Given the description of an element on the screen output the (x, y) to click on. 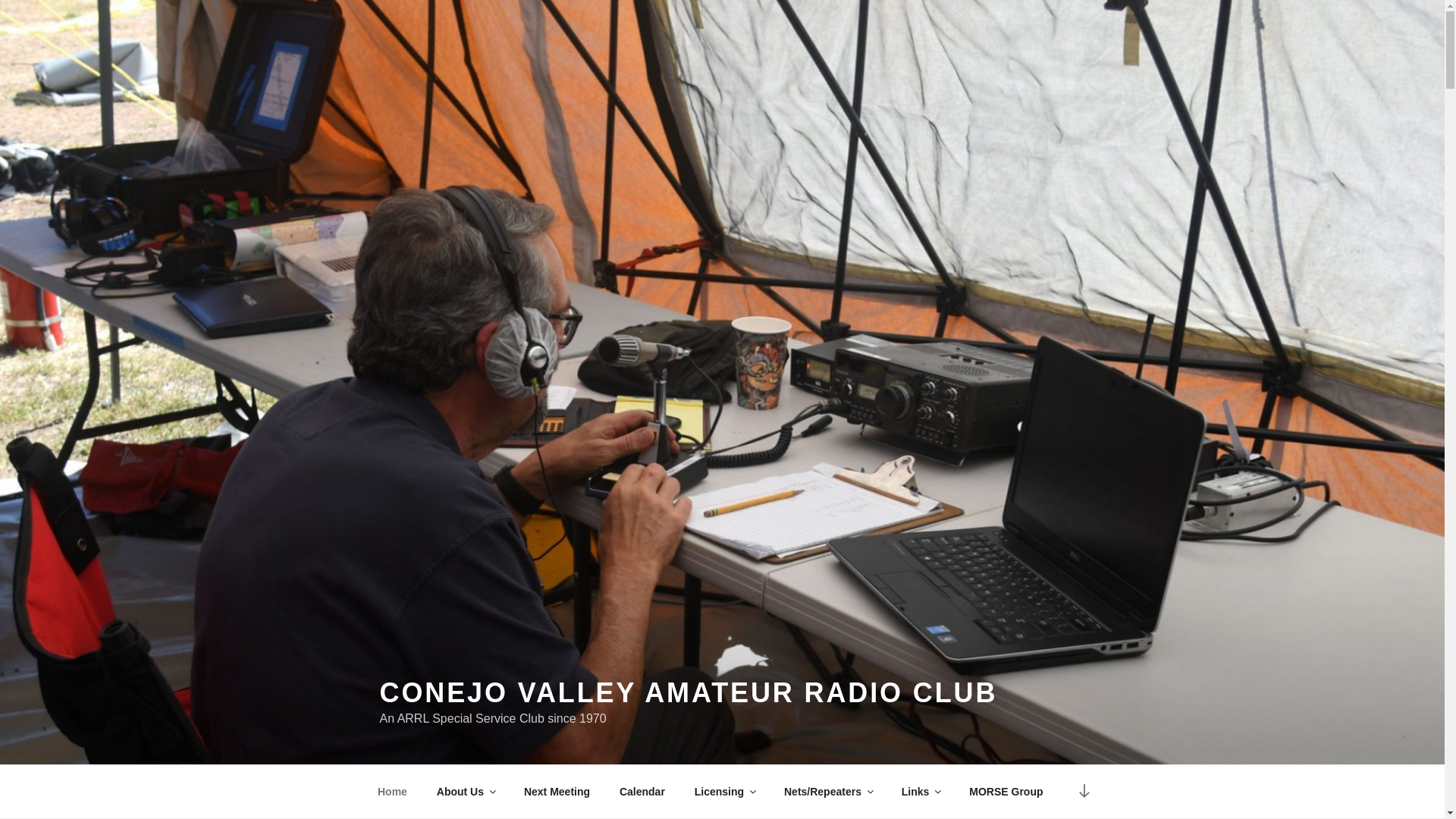
MORSE Group (1006, 791)
Calendar (641, 791)
CONEJO VALLEY AMATEUR RADIO CLUB (687, 692)
Scroll down to content (1082, 791)
Scroll down to content (1082, 791)
Links (920, 791)
Next Meeting (556, 791)
Licensing (724, 791)
About Us (464, 791)
Home (392, 791)
